Given the description of an element on the screen output the (x, y) to click on. 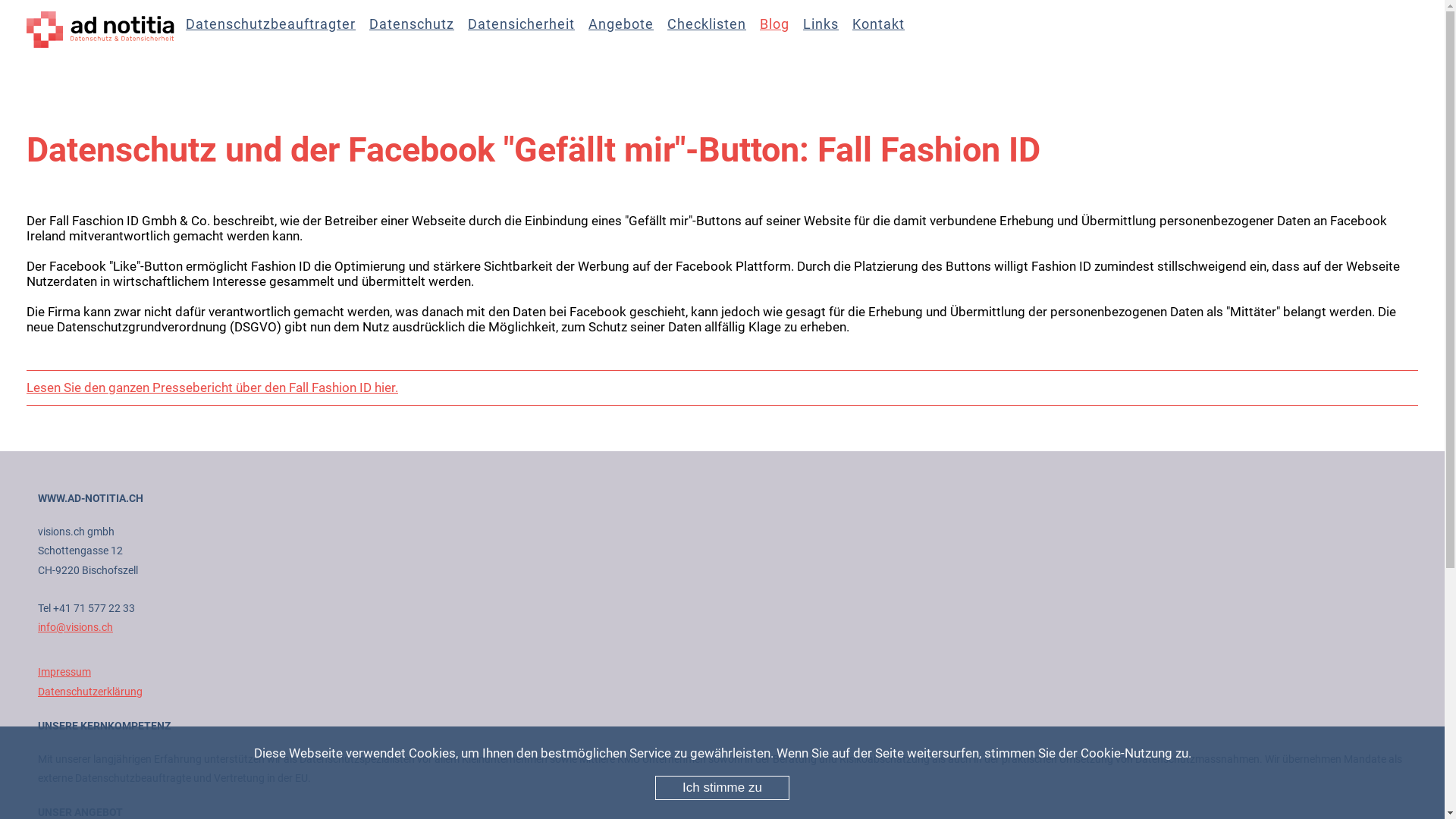
Datenschutzbeauftragter Element type: text (277, 31)
Checklisten Element type: text (713, 31)
info@visions.ch Element type: text (74, 627)
Links Element type: text (827, 31)
Kontakt Element type: text (885, 31)
Impressum Element type: text (64, 671)
Blog Element type: text (781, 31)
ad-notitia Element type: hover (105, 29)
Ich stimme zu Element type: text (722, 787)
Datensicherheit Element type: text (527, 31)
Angebote Element type: text (627, 31)
Datenschutz Element type: text (418, 31)
